Given the description of an element on the screen output the (x, y) to click on. 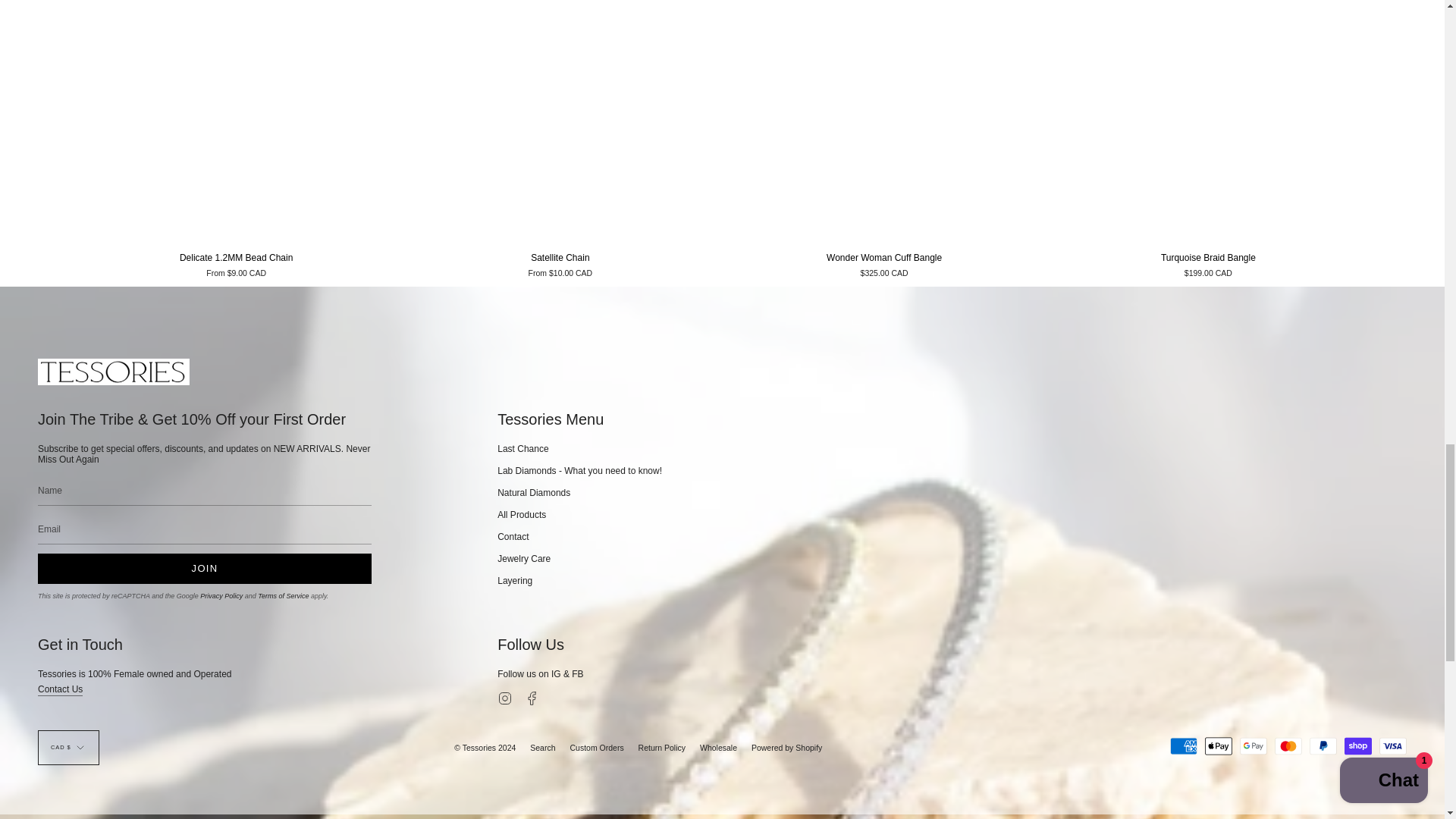
American Express (1183, 746)
Google Pay (1253, 746)
Mastercard (1288, 746)
Apple Pay (1218, 746)
Contact (59, 690)
Tessories on Facebook (532, 697)
Tessories on Instagram (504, 697)
